Given the description of an element on the screen output the (x, y) to click on. 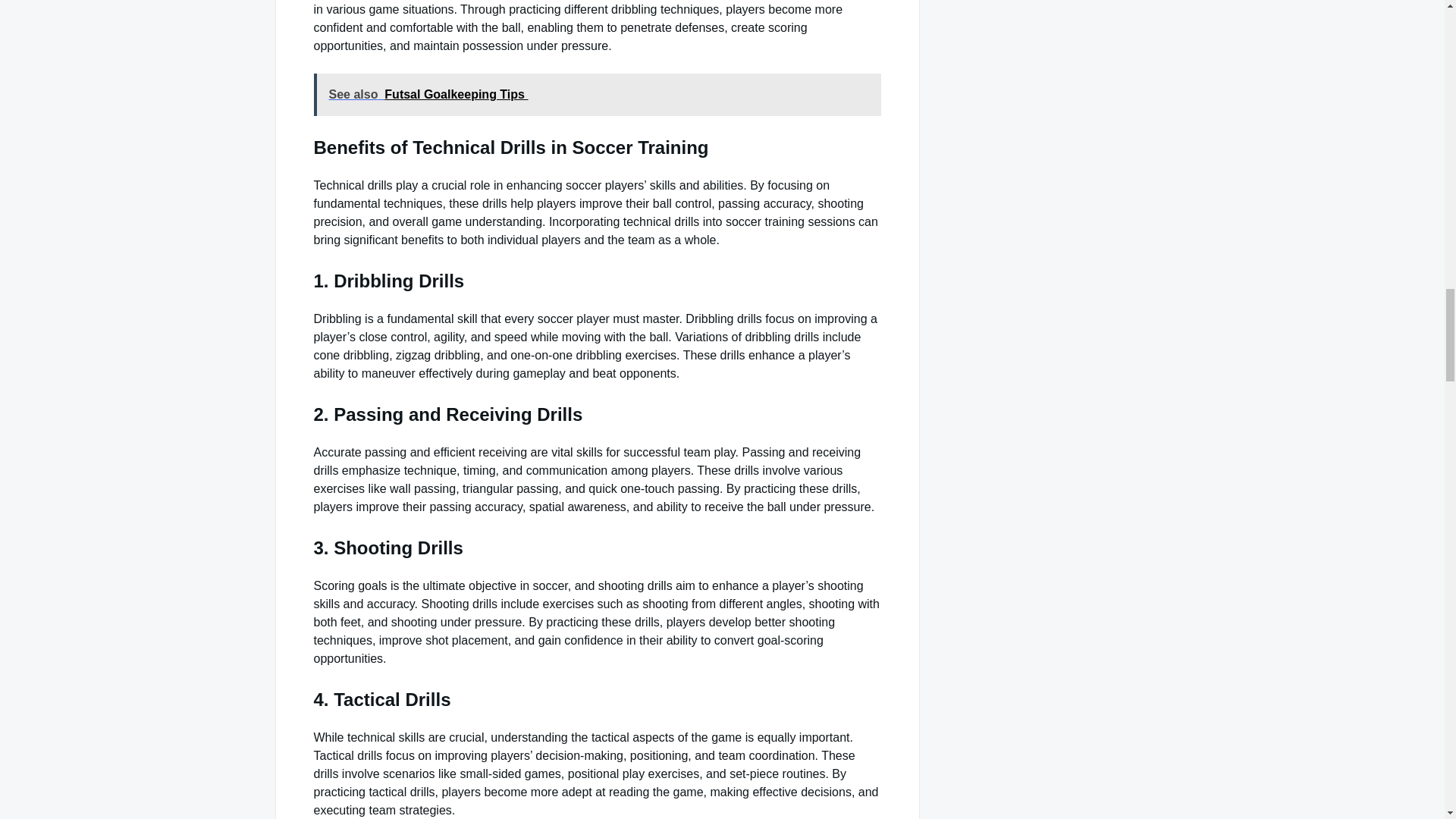
See also  Futsal Goalkeeping Tips  (597, 94)
